Given the description of an element on the screen output the (x, y) to click on. 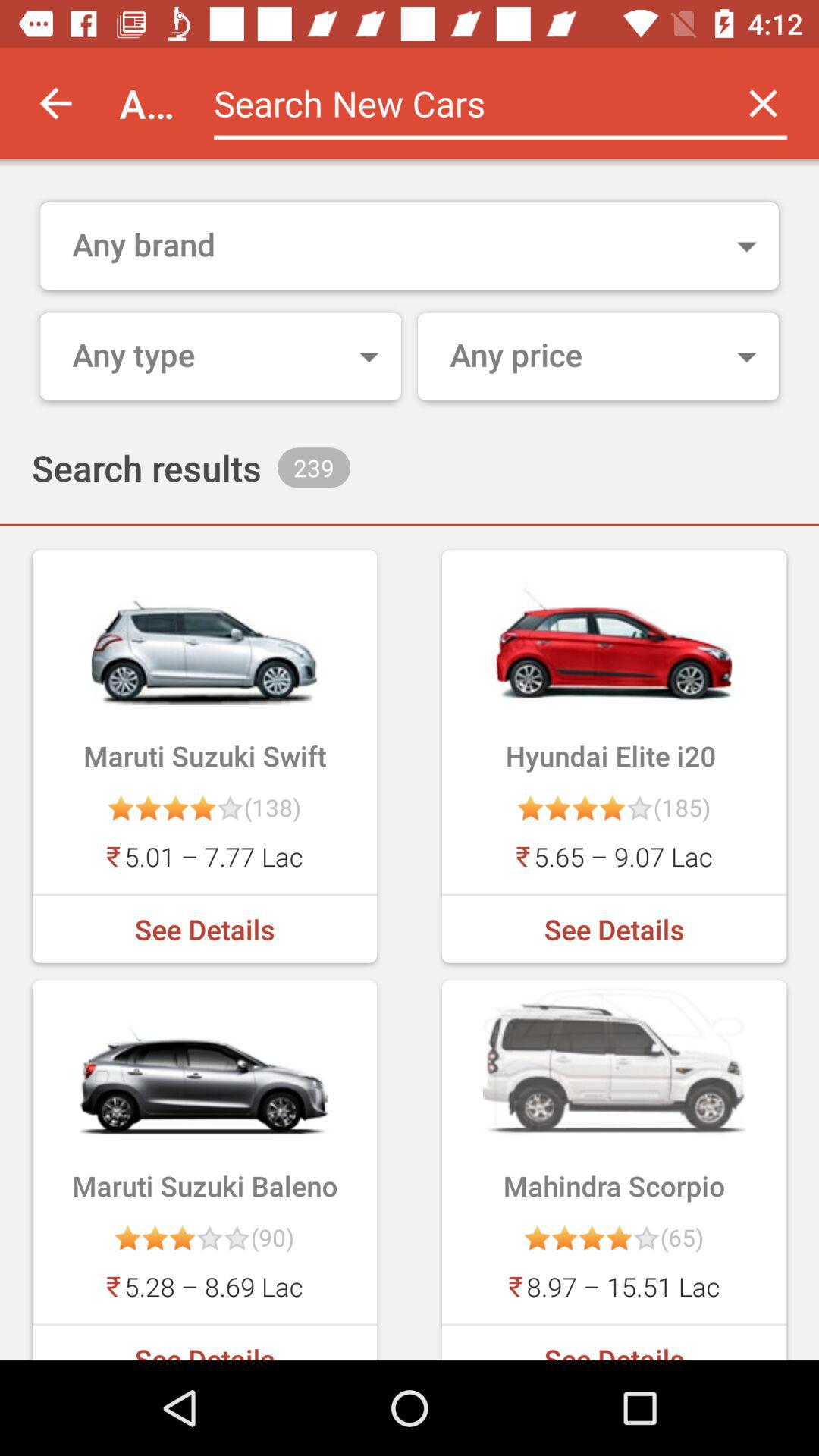
go to search (460, 103)
